Given the description of an element on the screen output the (x, y) to click on. 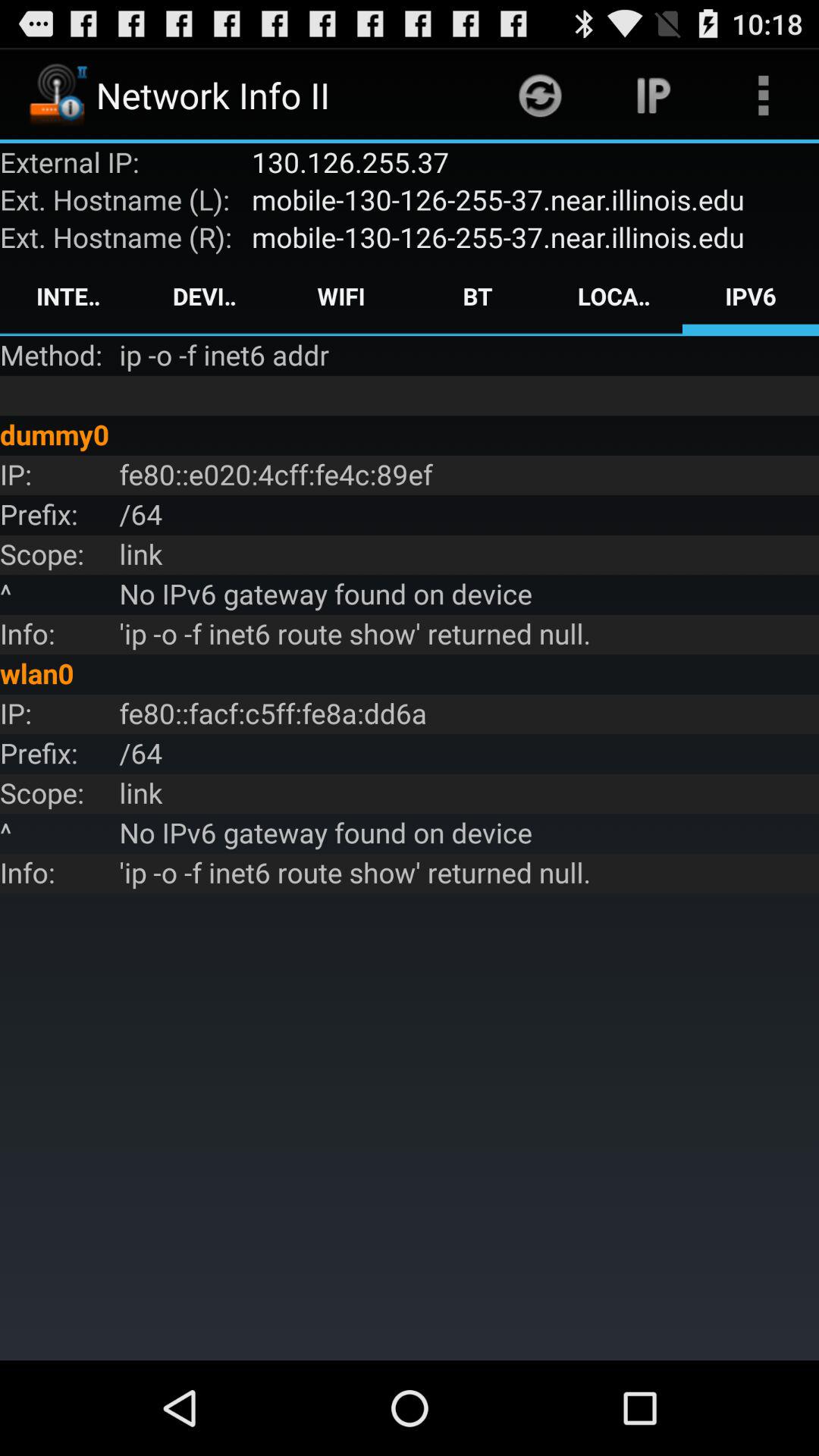
turn off the app above the method: icon (68, 295)
